Given the description of an element on the screen output the (x, y) to click on. 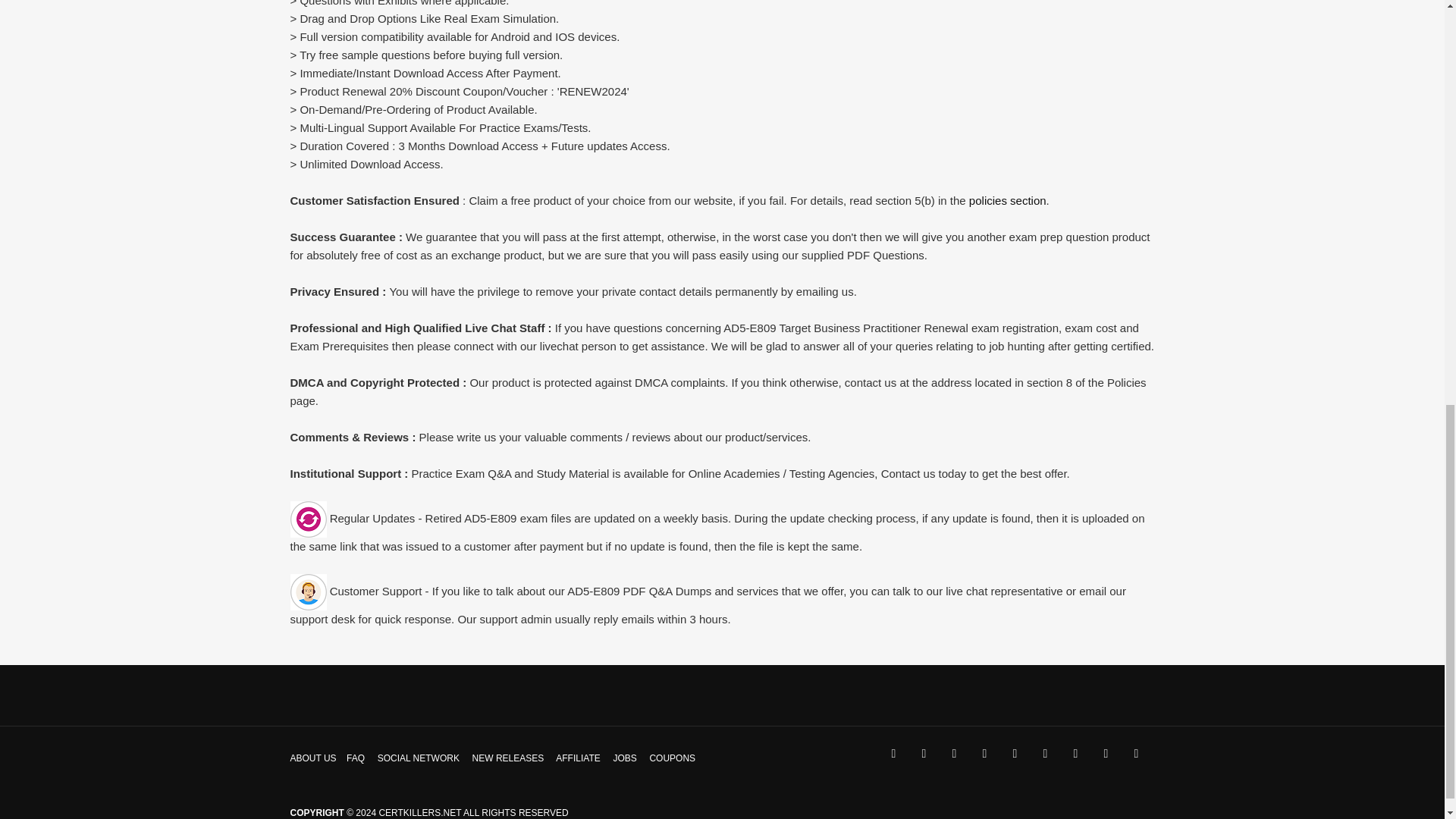
COUPONS (672, 757)
ABOUT US (312, 757)
AFFILIATE (577, 757)
NEW RELEASES (507, 757)
SOCIAL NETWORK (418, 757)
policies section (1007, 200)
JOBS (624, 757)
FAQ (355, 757)
